Given the description of an element on the screen output the (x, y) to click on. 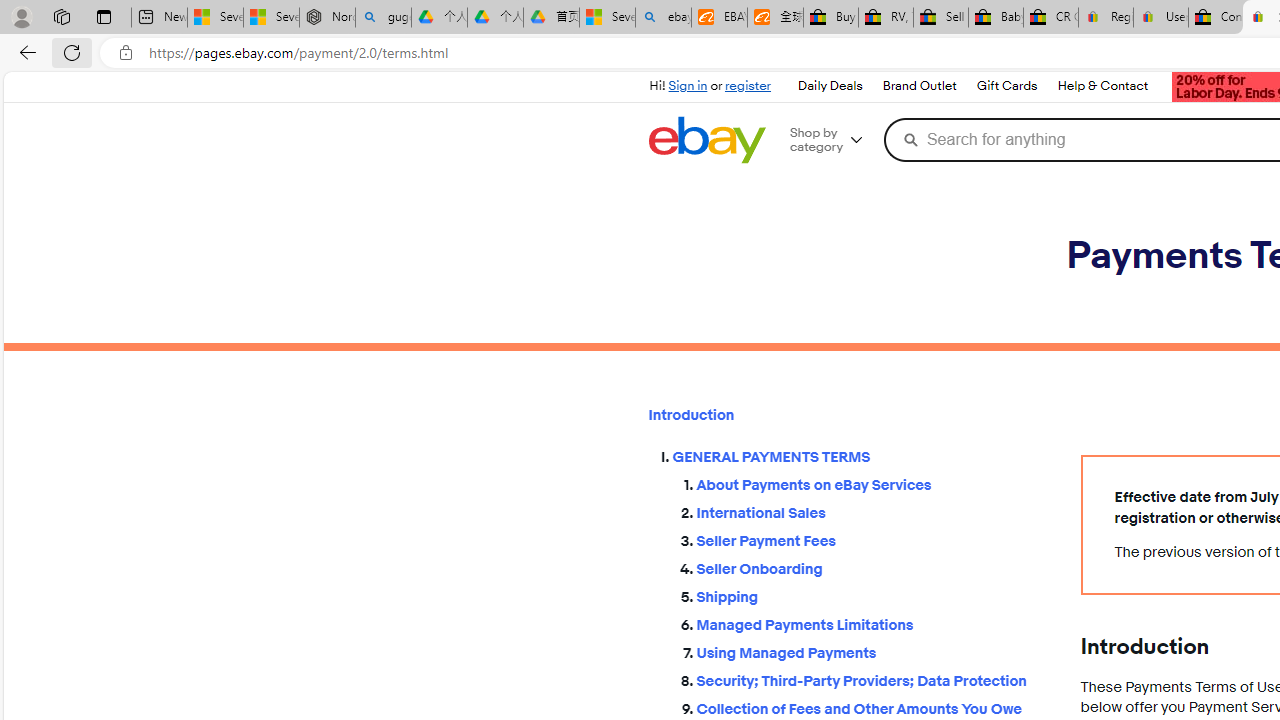
Help & Contact (1103, 86)
Daily Deals (829, 85)
Using Managed Payments (872, 652)
RV, Trailer & Camper Steps & Ladders for sale | eBay (885, 17)
Baby Keepsakes & Announcements for sale | eBay (995, 17)
Daily Deals (829, 86)
Managed Payments Limitations (872, 624)
eBay Home (706, 139)
Introduction (848, 415)
